Given the description of an element on the screen output the (x, y) to click on. 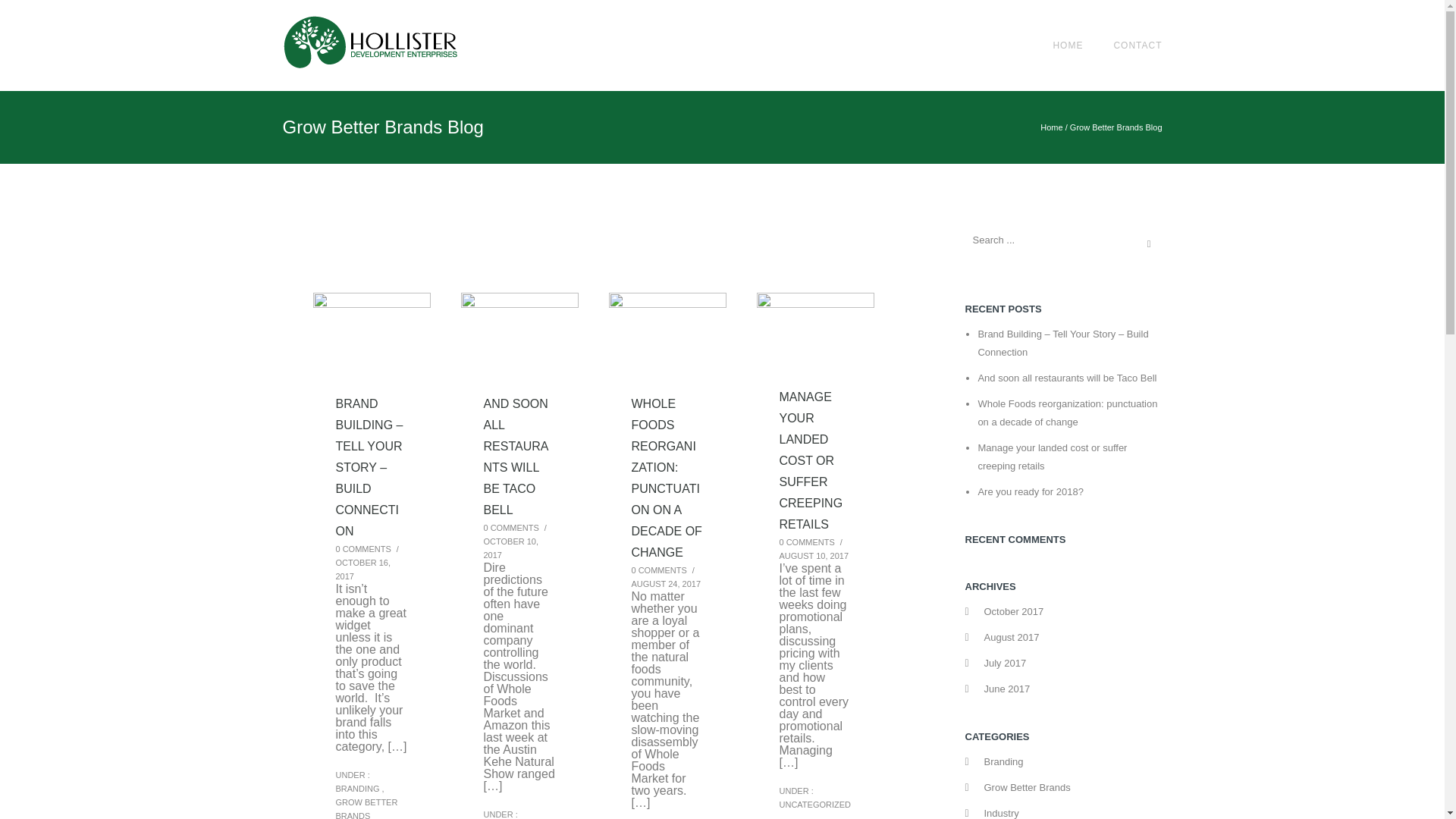
0 COMMENTS (510, 527)
0 COMMENTS (657, 569)
View all posts in Uncategorized (814, 804)
0 COMMENTS (806, 542)
GROW BETTER BRANDS (365, 808)
0 COMMENTS (362, 548)
View all posts in Branding (356, 788)
UNCATEGORIZED (814, 804)
View all posts in Grow Better Brands (365, 808)
Grow Better Brands Blog (1115, 126)
